Given the description of an element on the screen output the (x, y) to click on. 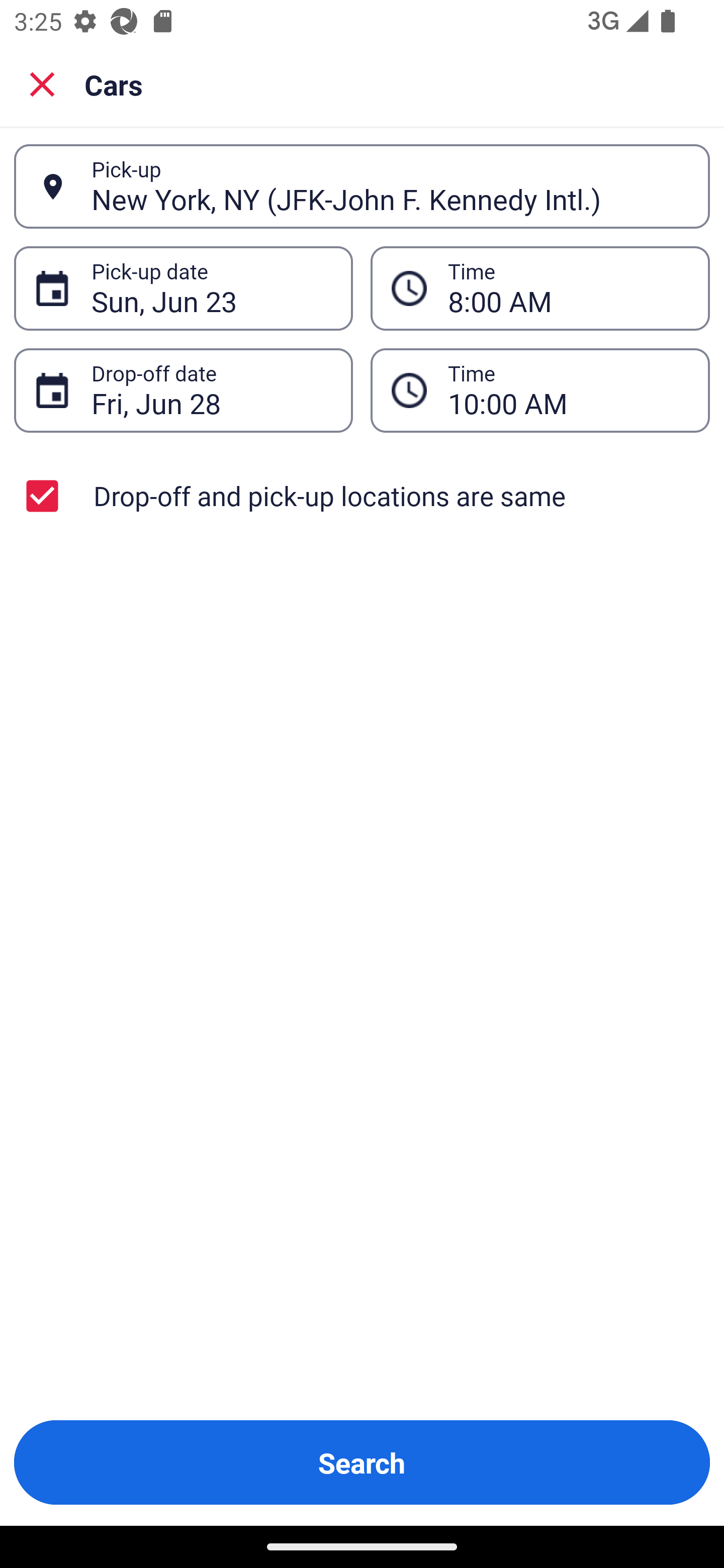
Close search screen (41, 83)
New York, NY (JFK-John F. Kennedy Intl.) Pick-up (361, 186)
New York, NY (JFK-John F. Kennedy Intl.) (389, 186)
Sun, Jun 23 Pick-up date (183, 288)
8:00 AM (540, 288)
Sun, Jun 23 (211, 288)
8:00 AM (568, 288)
Fri, Jun 28 Drop-off date (183, 390)
10:00 AM (540, 390)
Fri, Jun 28 (211, 390)
10:00 AM (568, 390)
Drop-off and pick-up locations are same (361, 495)
Search Button Search (361, 1462)
